Given the description of an element on the screen output the (x, y) to click on. 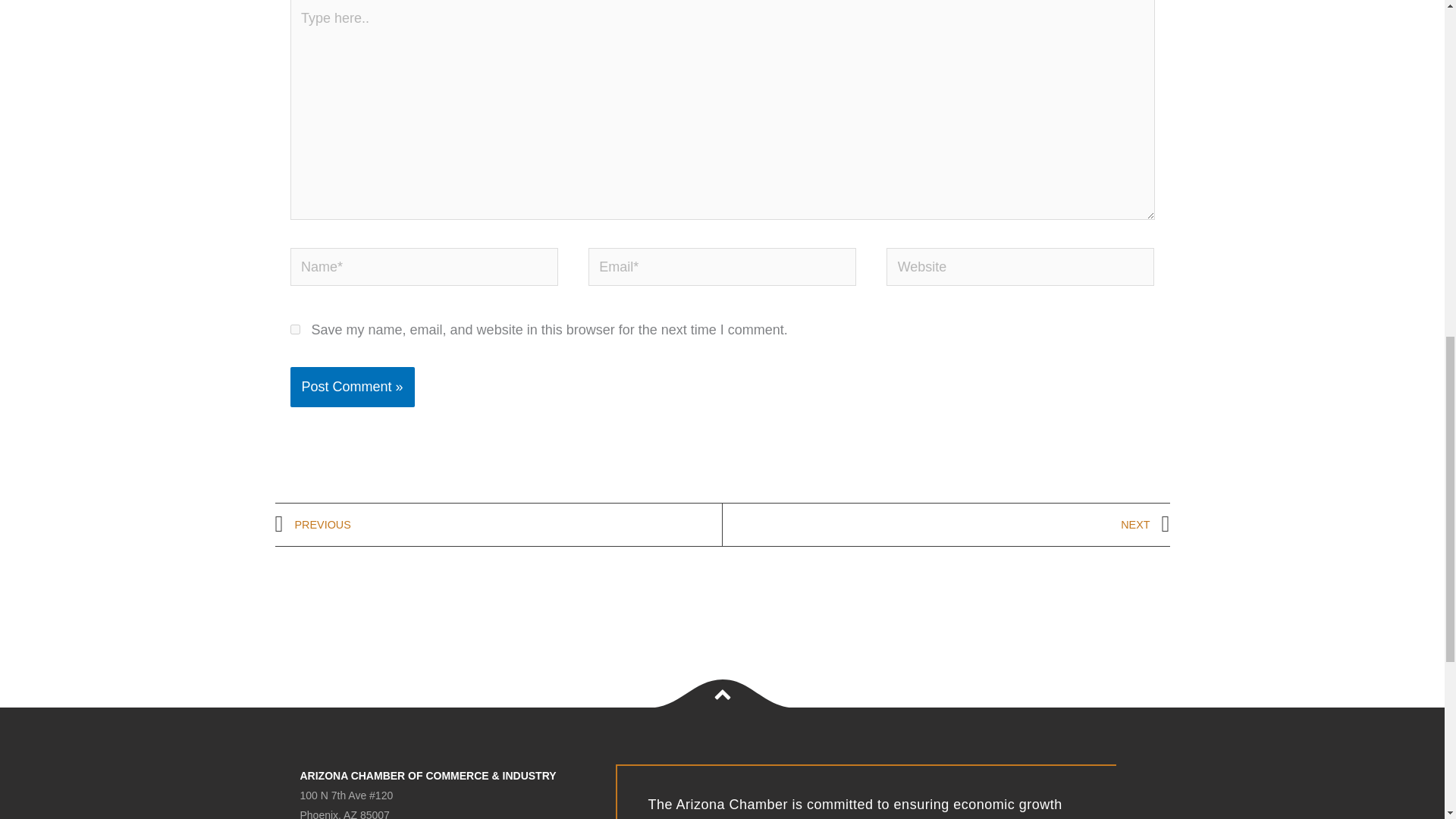
yes (294, 329)
